Given the description of an element on the screen output the (x, y) to click on. 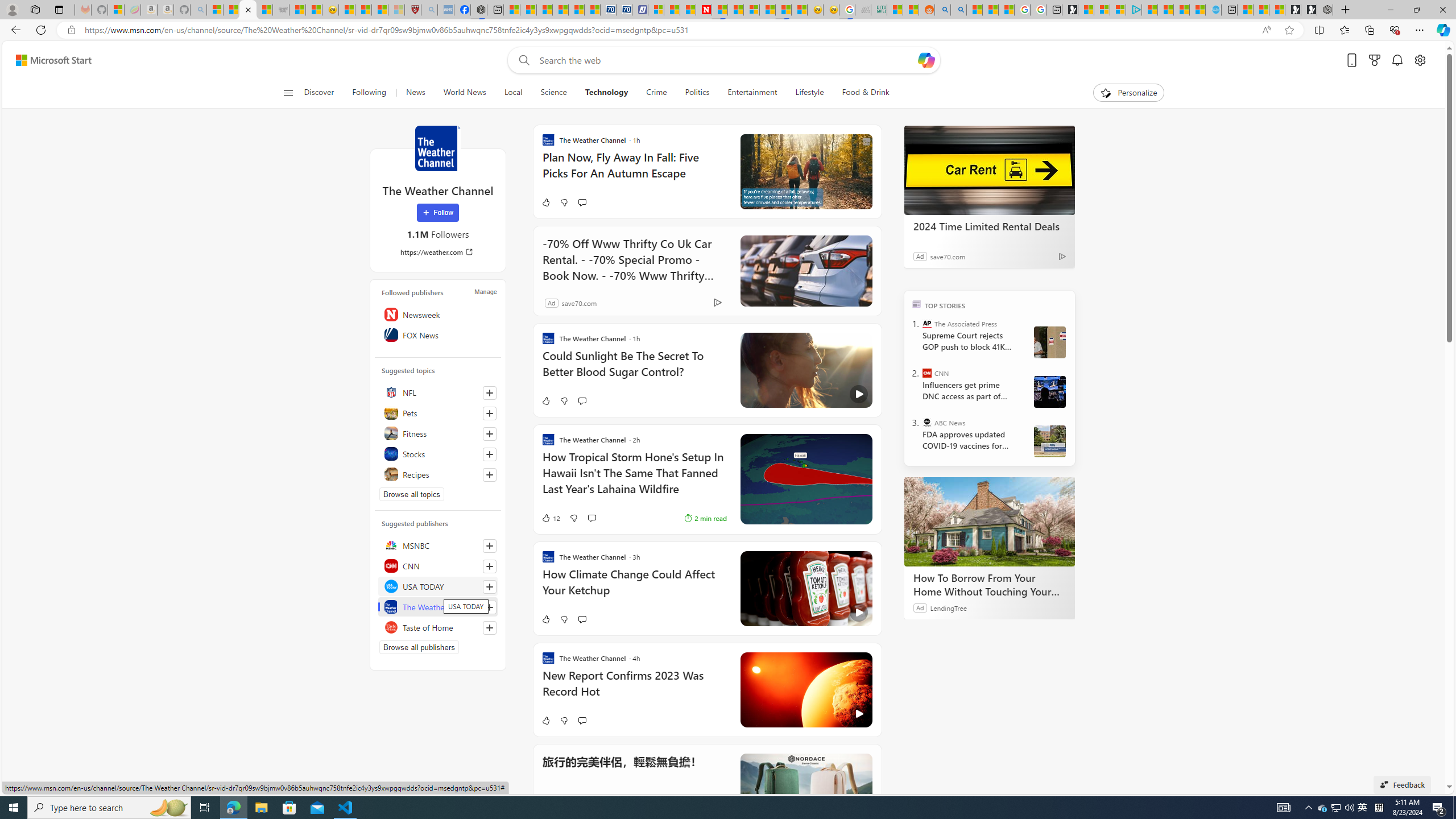
Stocks (437, 453)
